Given the description of an element on the screen output the (x, y) to click on. 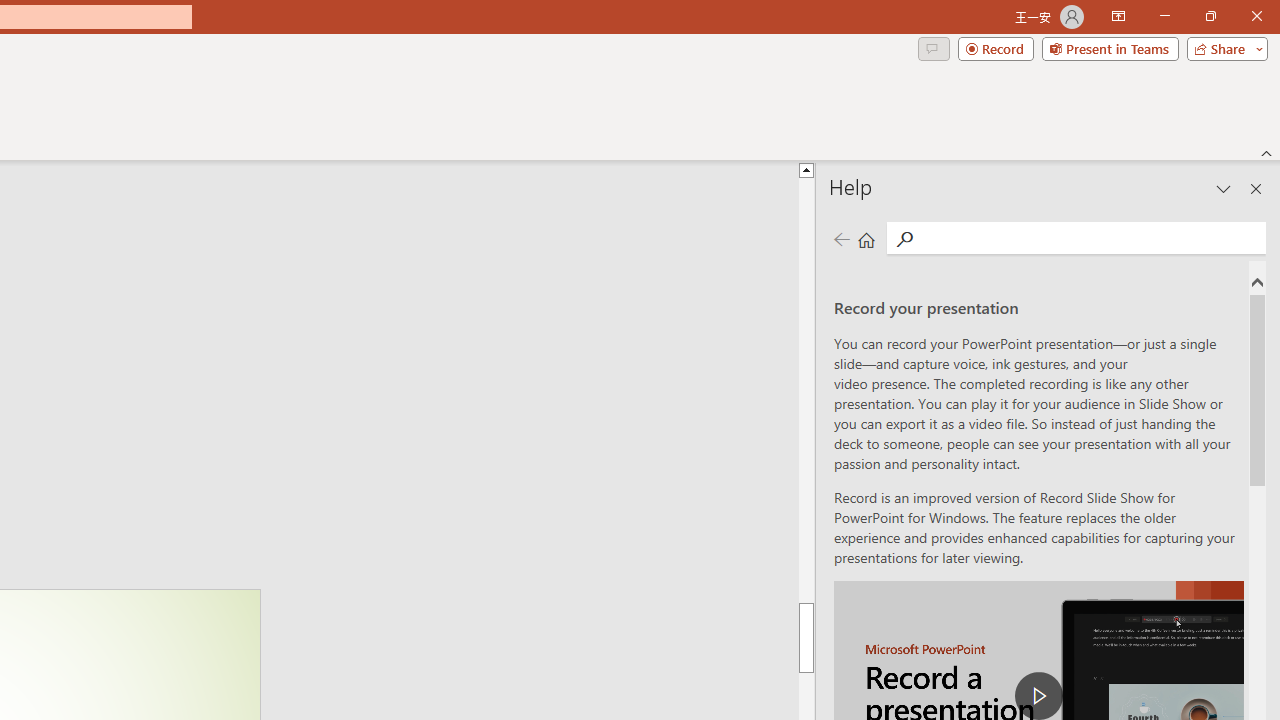
play Record a Presentation (1038, 695)
Previous page (841, 238)
